Given the description of an element on the screen output the (x, y) to click on. 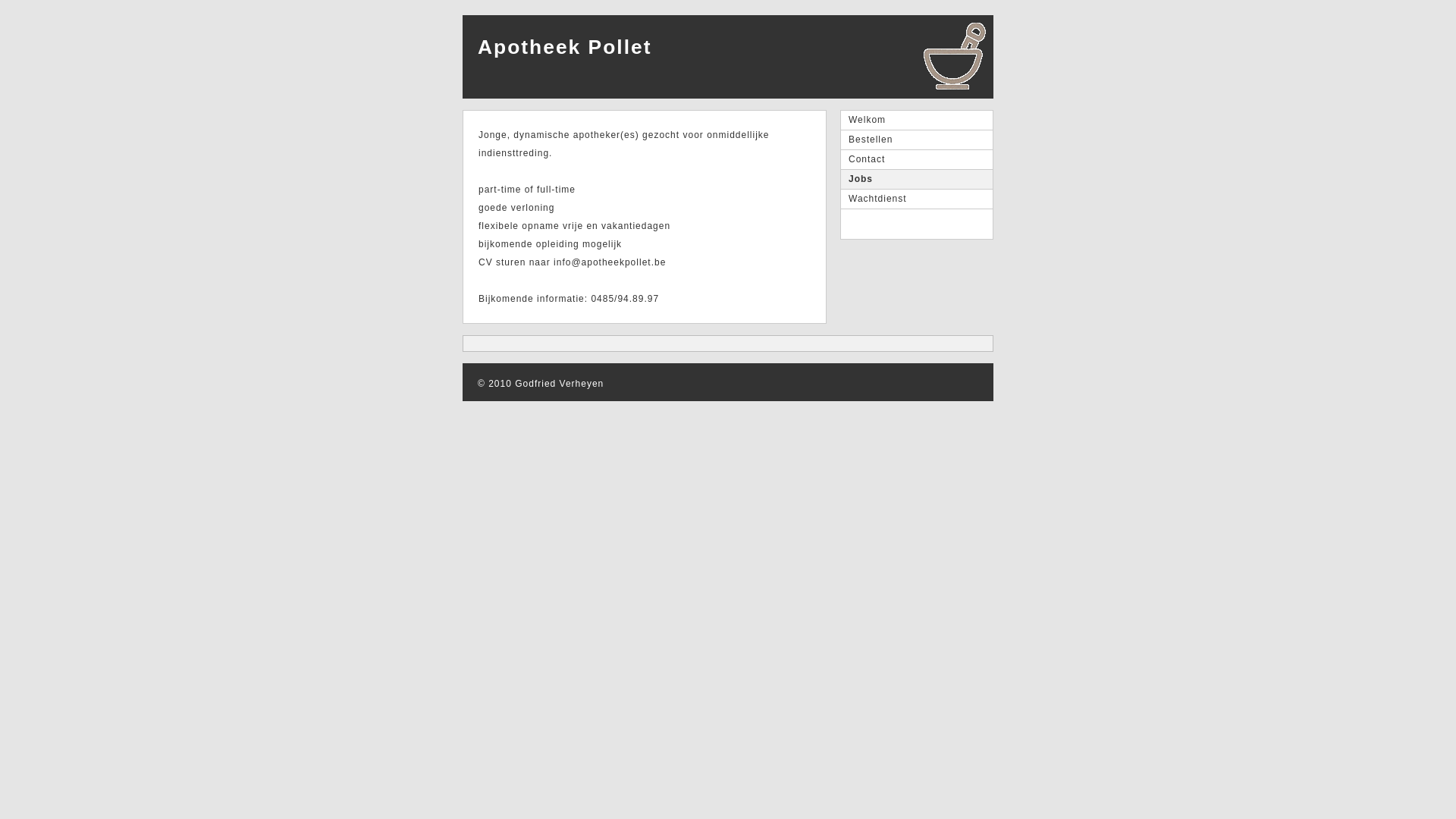
Wachtdienst Element type: text (916, 199)
Contact Element type: text (916, 159)
Jobs Element type: text (916, 179)
Welkom Element type: text (916, 120)
Bestellen Element type: text (916, 140)
